Given the description of an element on the screen output the (x, y) to click on. 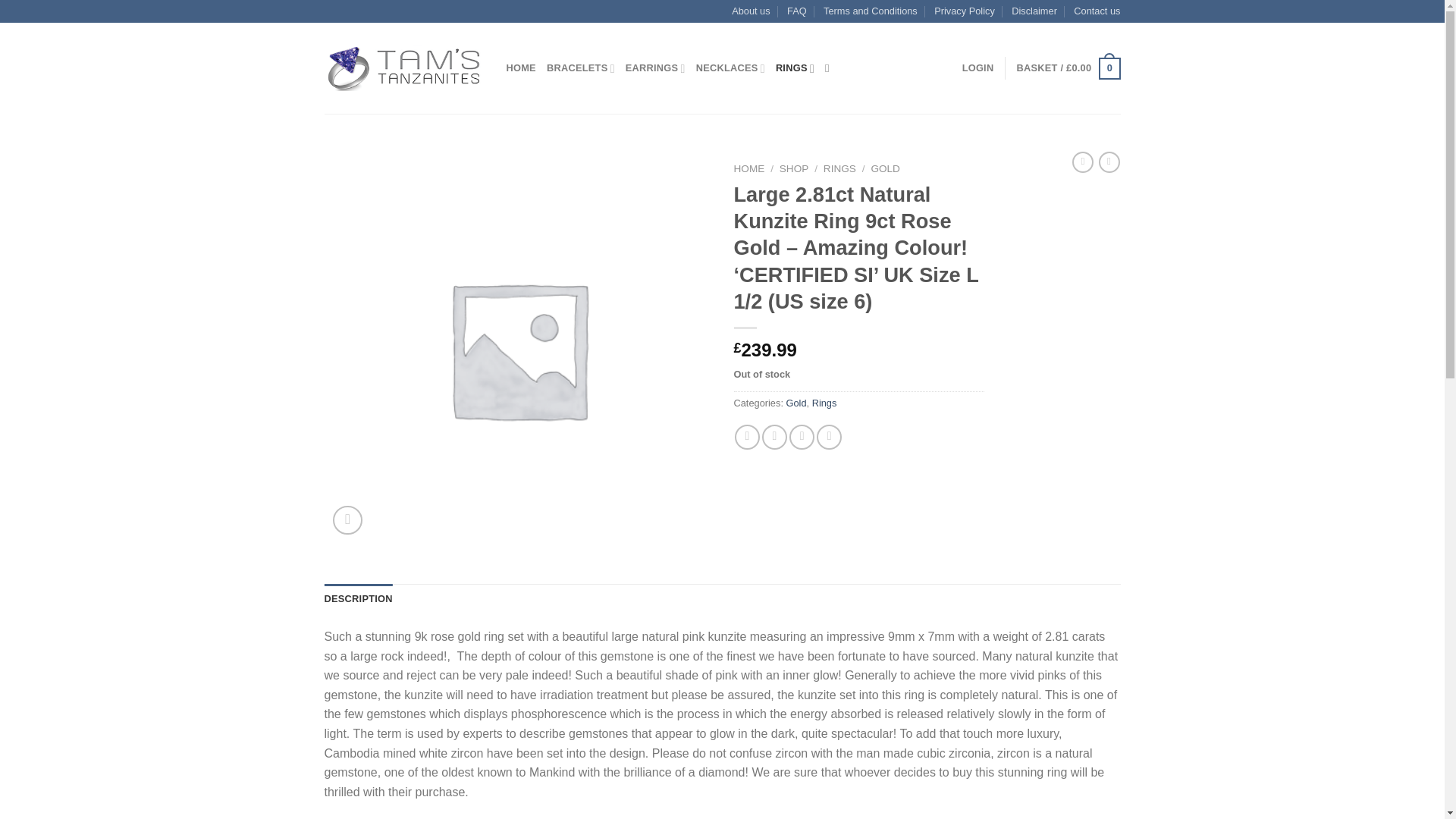
Gold (796, 402)
BRACELETS (580, 68)
HOME (749, 168)
Rings (824, 402)
GOLD (884, 168)
NECKLACES (730, 68)
Terms and Conditions (870, 11)
EARRINGS (655, 68)
LOGIN (978, 68)
Contact us (1096, 11)
RINGS (840, 168)
Basket (1067, 68)
RINGS (794, 68)
About us (751, 11)
SHOP (793, 168)
